Given the description of an element on the screen output the (x, y) to click on. 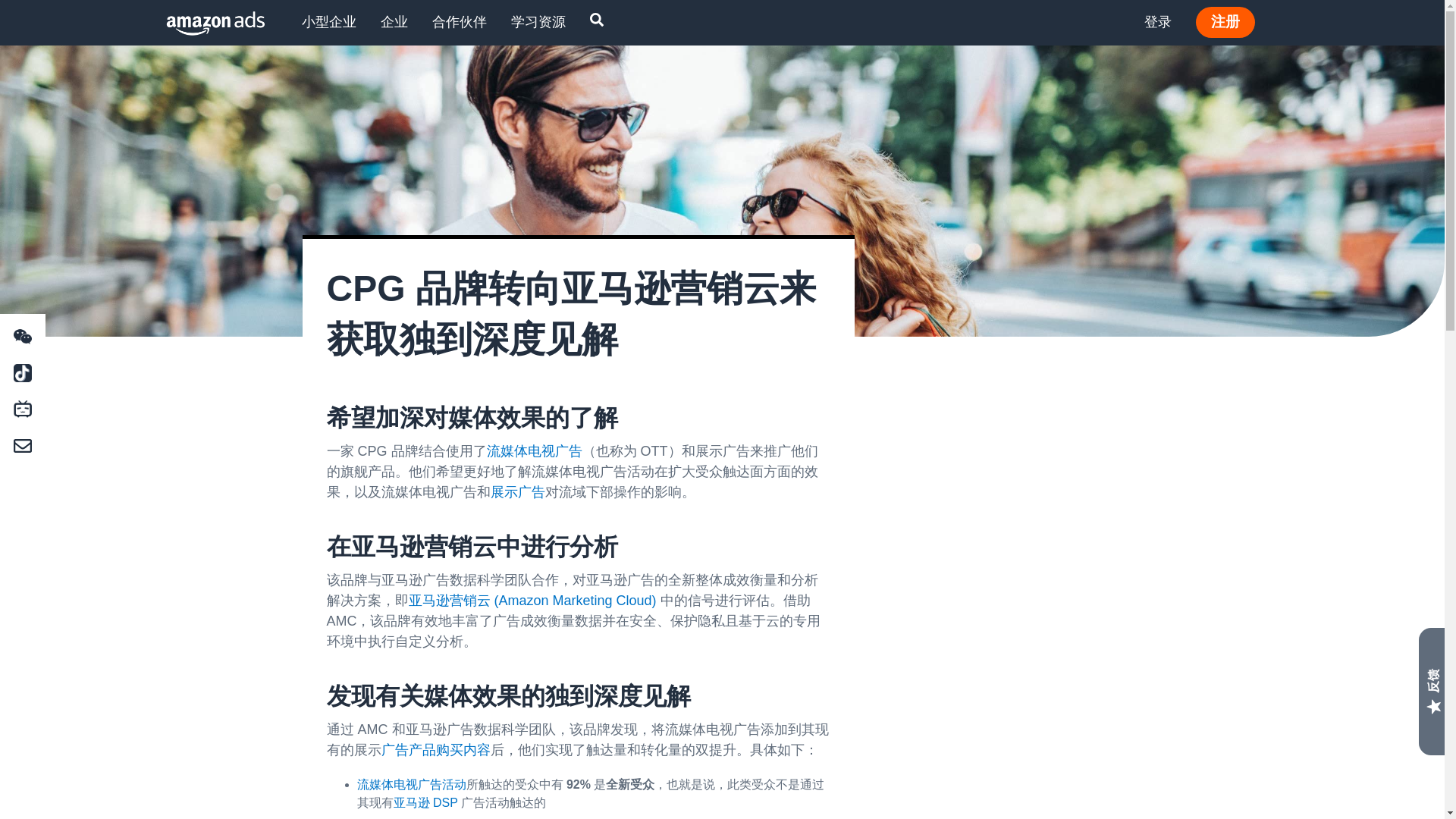
Amazon Ads (202, 22)
